Given the description of an element on the screen output the (x, y) to click on. 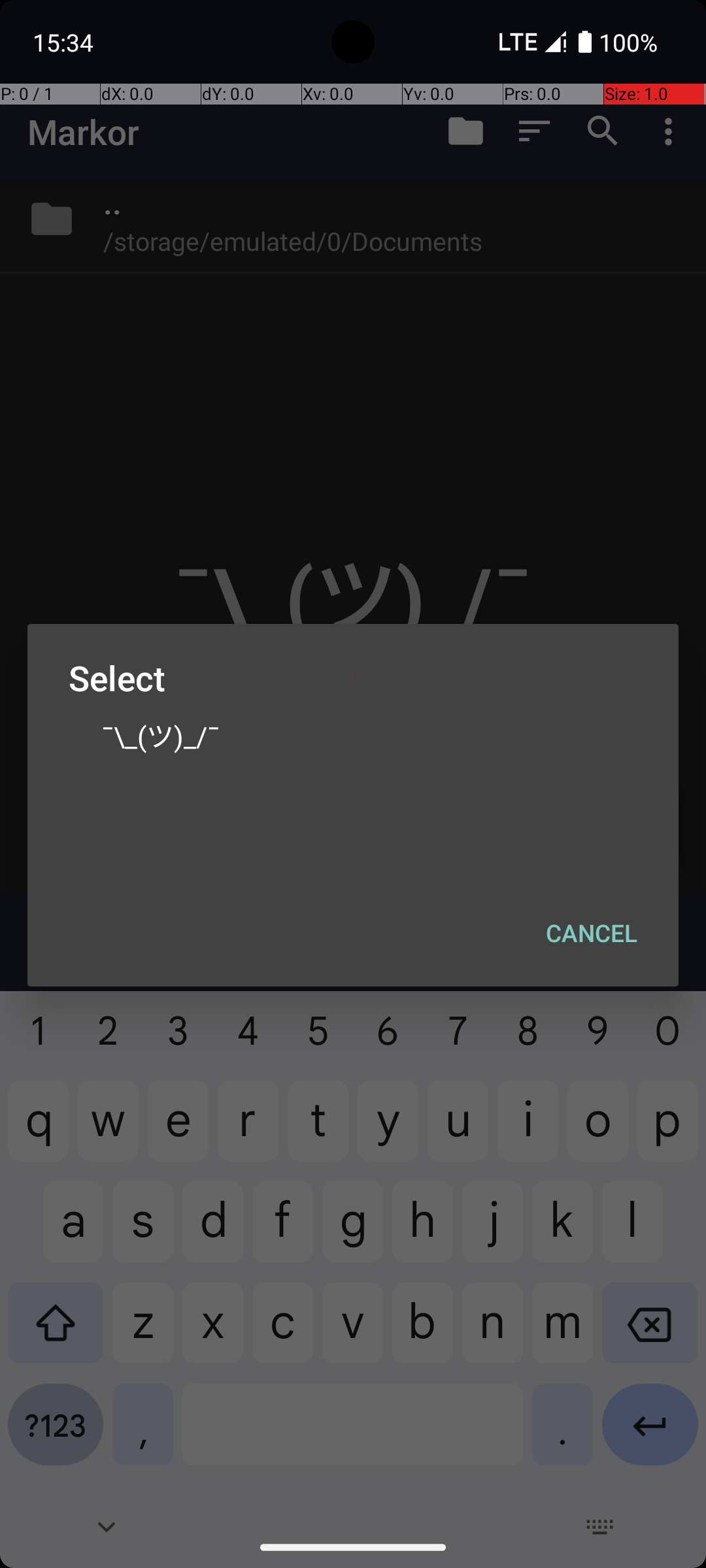
Select Element type: android.widget.TextView (352, 677)
     ¯\_(ツ)_/¯      Element type: android.widget.TextView (352, 734)
